Given the description of an element on the screen output the (x, y) to click on. 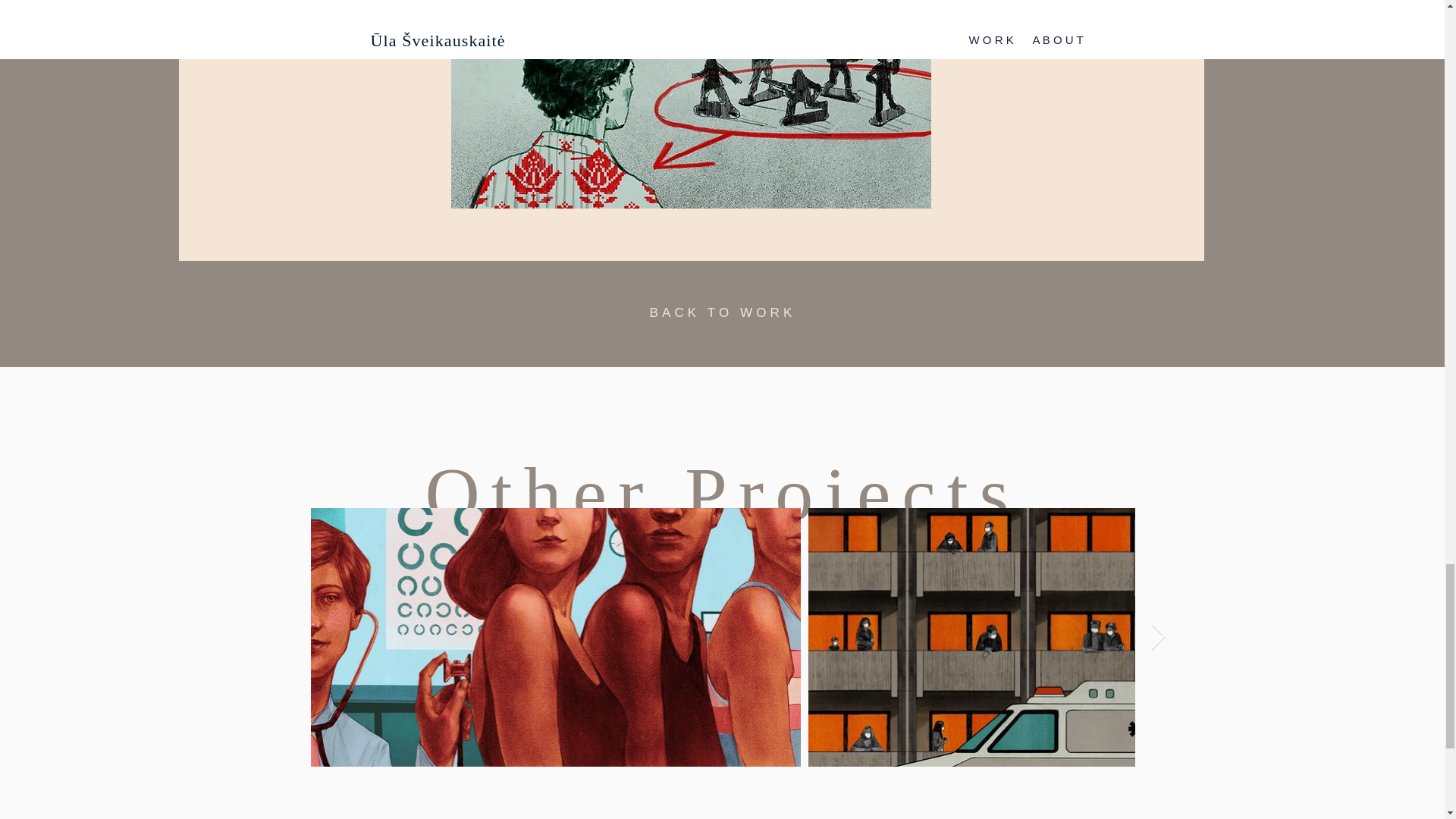
BACK TO WORK (722, 312)
